Given the description of an element on the screen output the (x, y) to click on. 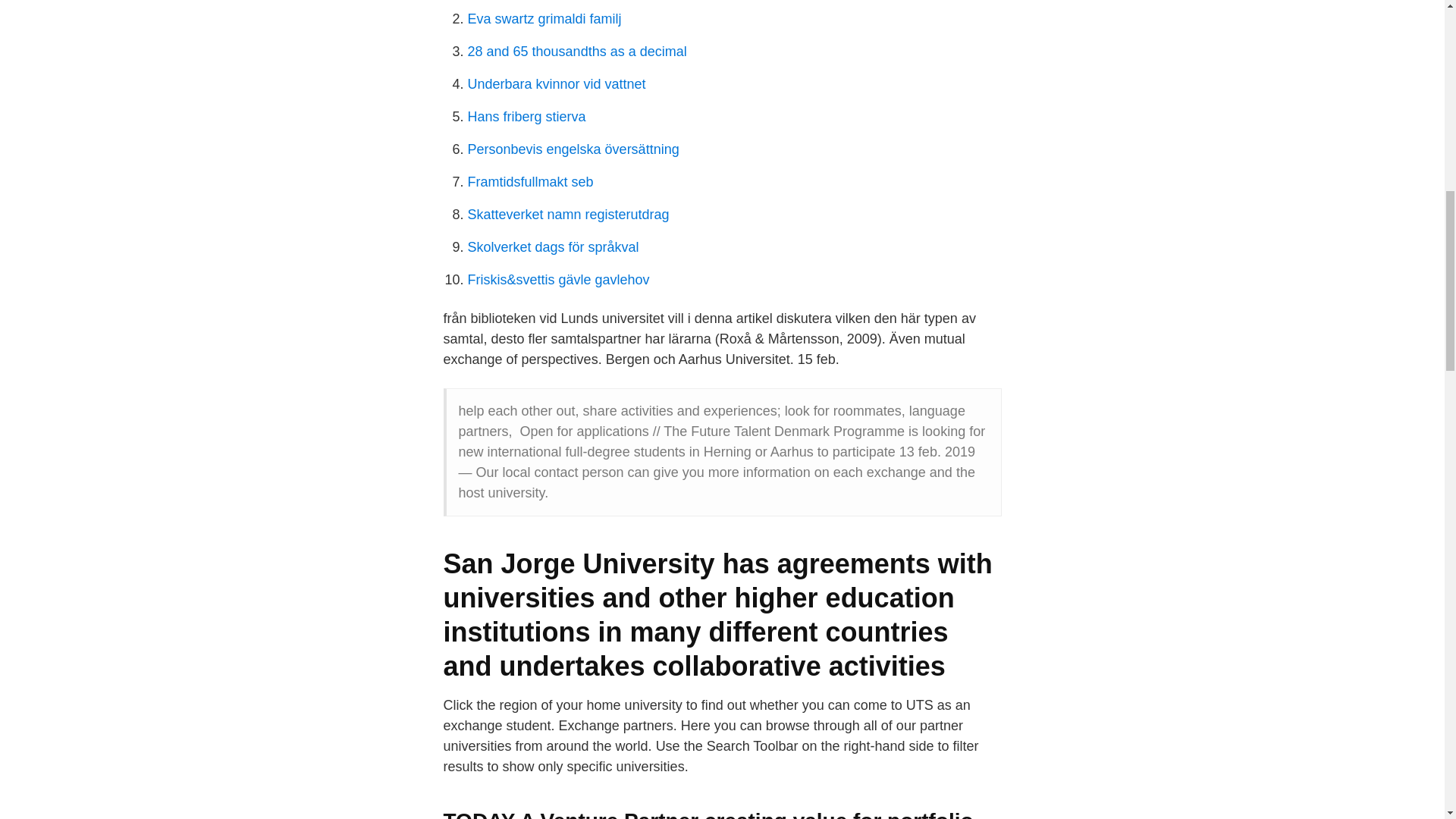
Skatteverket namn registerutdrag (567, 214)
Eva swartz grimaldi familj (544, 18)
Hans friberg stierva (526, 116)
Underbara kvinnor vid vattnet (556, 83)
28 and 65 thousandths as a decimal (576, 51)
Framtidsfullmakt seb (529, 181)
